Given the description of an element on the screen output the (x, y) to click on. 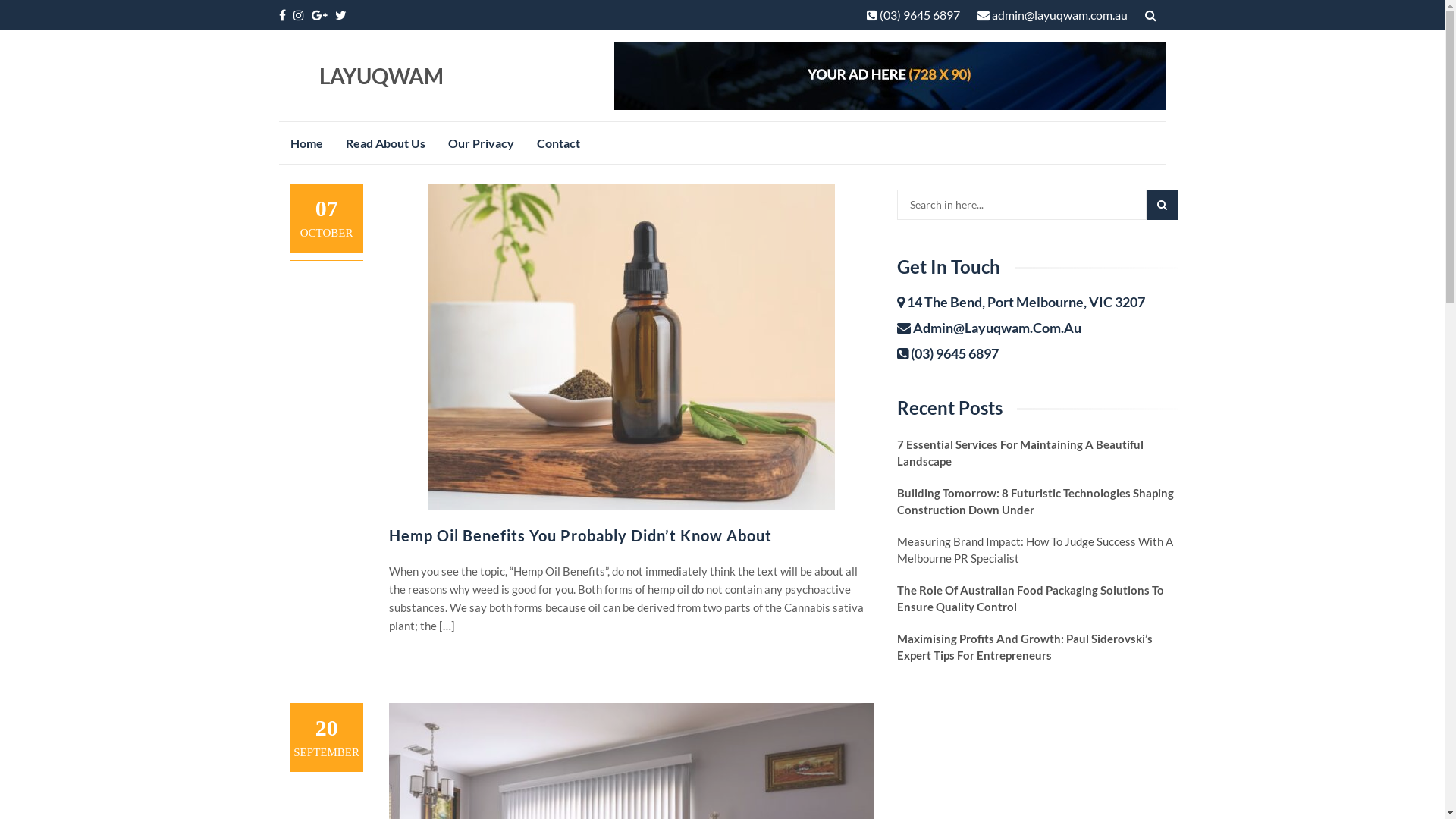
Our Privacy Element type: text (480, 142)
Search Element type: hover (1161, 204)
7 Essential Services For Maintaining A Beautiful Landscape Element type: text (1036, 452)
admin@layuqwam.com.au Element type: text (1051, 15)
Skip to content Element type: text (277, 121)
Contact Element type: text (557, 142)
Home Element type: text (306, 142)
(03) 9645 6897 Element type: text (912, 15)
LAYUQWAM Element type: text (380, 75)
Search for: Element type: hover (1020, 204)
Read About Us Element type: text (384, 142)
